Given the description of an element on the screen output the (x, y) to click on. 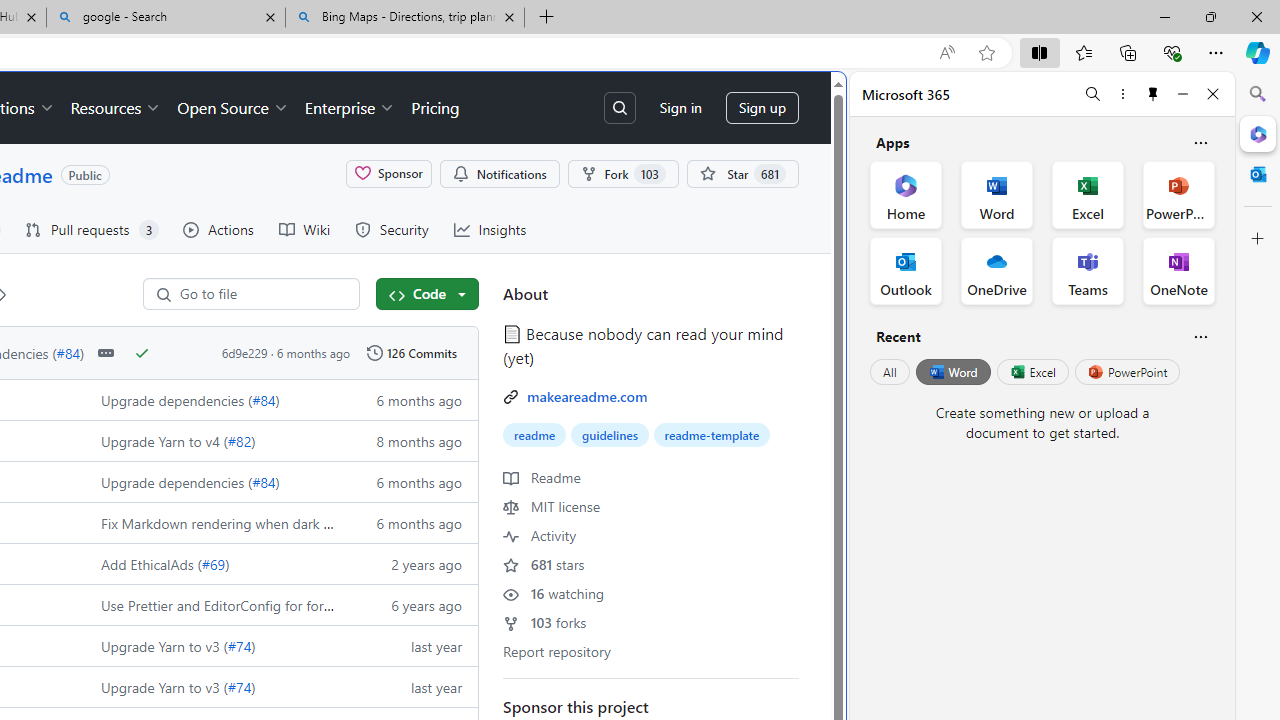
Pricing (435, 107)
Upgrade Yarn to v3 (#74) (212, 686)
Insights (490, 229)
You must be signed in to change notification settings (499, 173)
Wiki (304, 229)
Actions (218, 229)
last year (409, 686)
Pricing (435, 107)
Outlook Office App (906, 270)
Security (391, 229)
Sponsor dguo/make-a-readme (388, 173)
Code (427, 293)
